Given the description of an element on the screen output the (x, y) to click on. 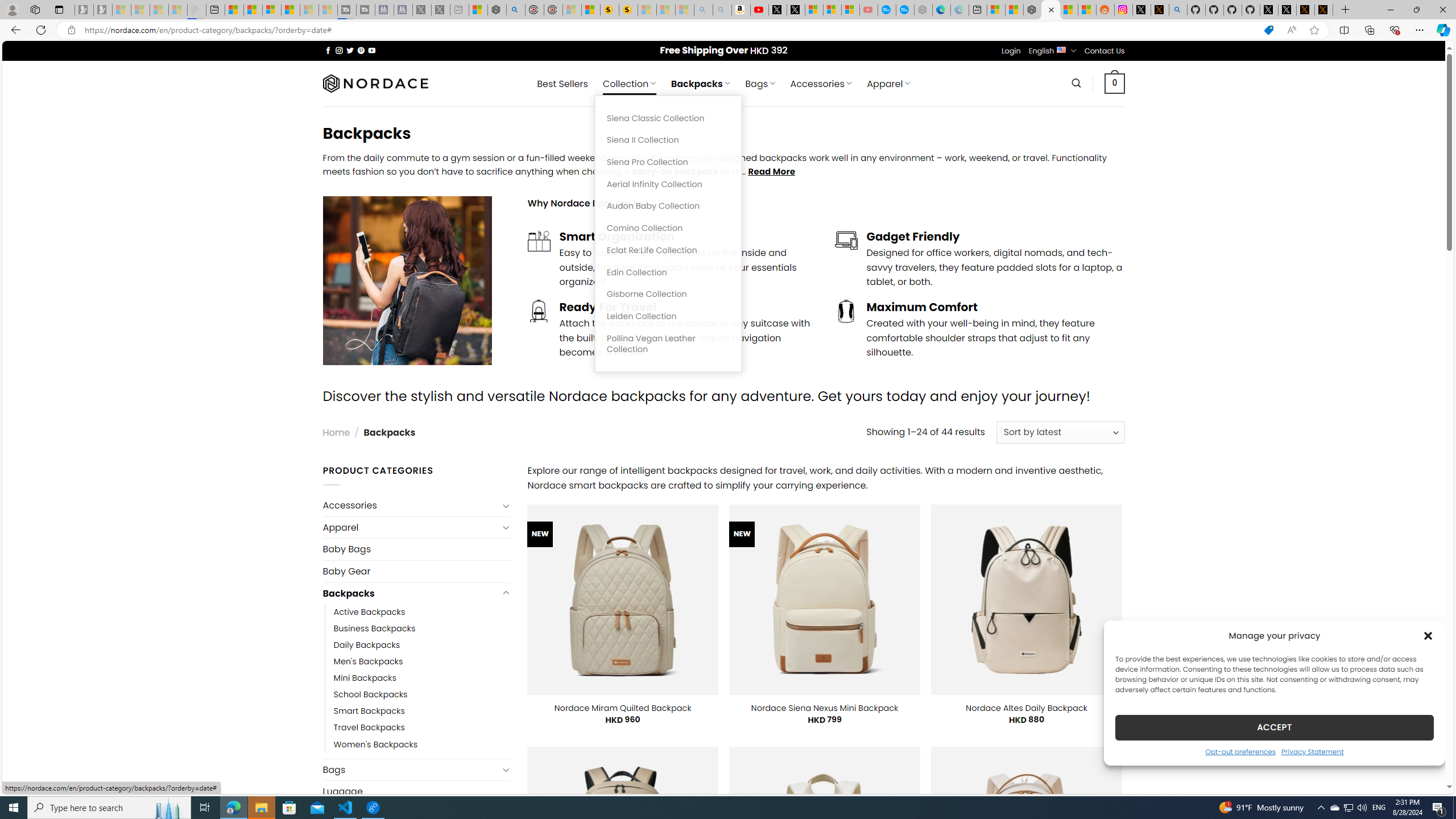
Opinion: Op-Ed and Commentary - USA TODAY (887, 9)
X (795, 9)
Close tab (1050, 9)
Luggage (416, 791)
Home (335, 431)
X - Sleeping (440, 9)
Leiden Collection (668, 316)
Audon Baby Collection (668, 205)
New tab - Sleeping (459, 9)
Read More (771, 171)
Workspaces (34, 9)
